Given the description of an element on the screen output the (x, y) to click on. 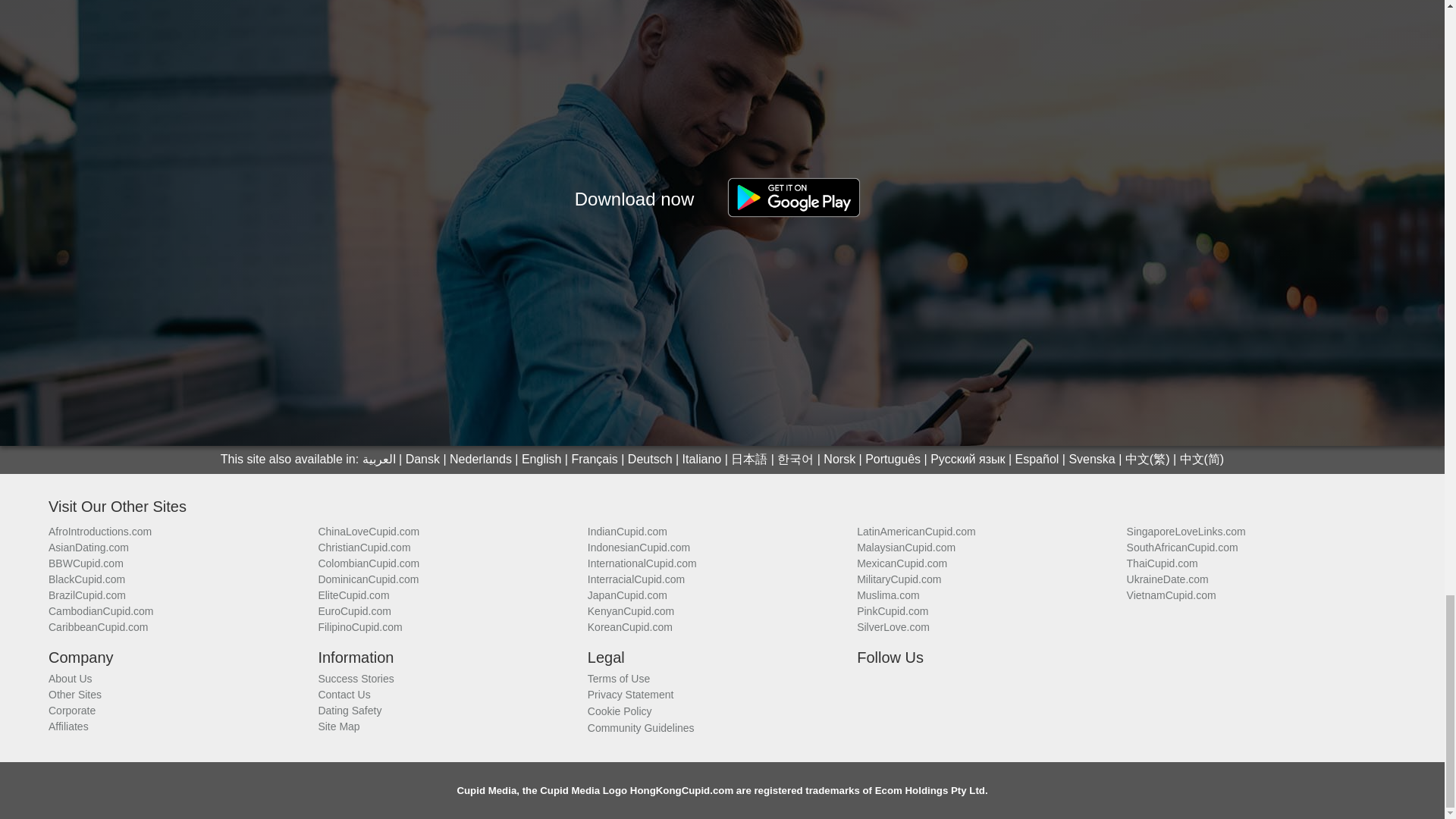
Nederlands (480, 459)
Italiano (702, 459)
English (540, 459)
Norsk (840, 459)
Svenska (1091, 459)
Deutsch (649, 459)
Dansk (422, 459)
